Given the description of an element on the screen output the (x, y) to click on. 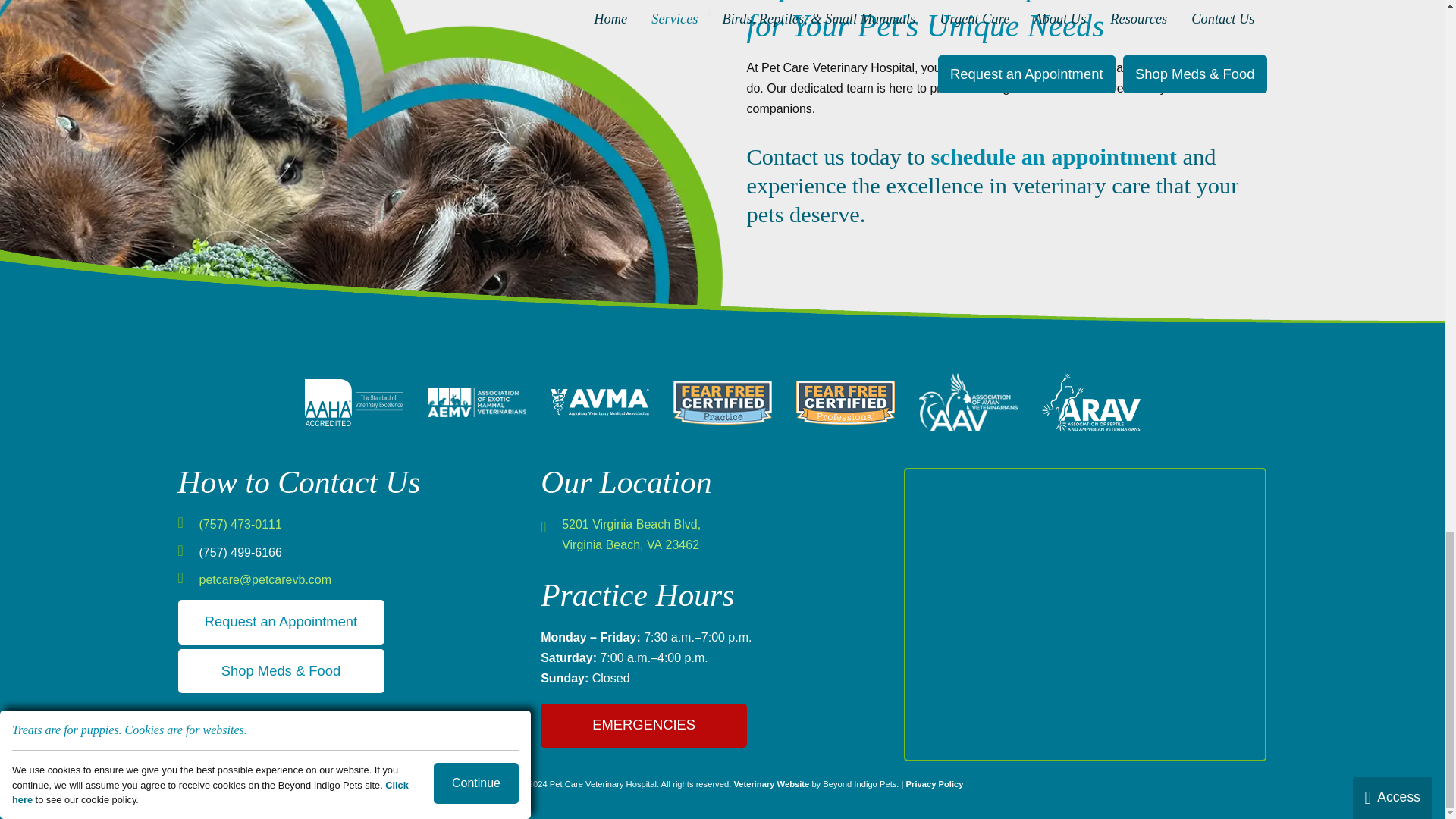
bizname (1085, 614)
Beyond Indigo Pets (771, 783)
AAV Logo (967, 402)
Fear Free Professionals Logo (845, 402)
AEMV Logo (476, 401)
ARAV Logo (1091, 401)
AAHA Logo (353, 402)
Fear Free Practice Logo (721, 402)
AVMA Logo (599, 402)
